Given the description of an element on the screen output the (x, y) to click on. 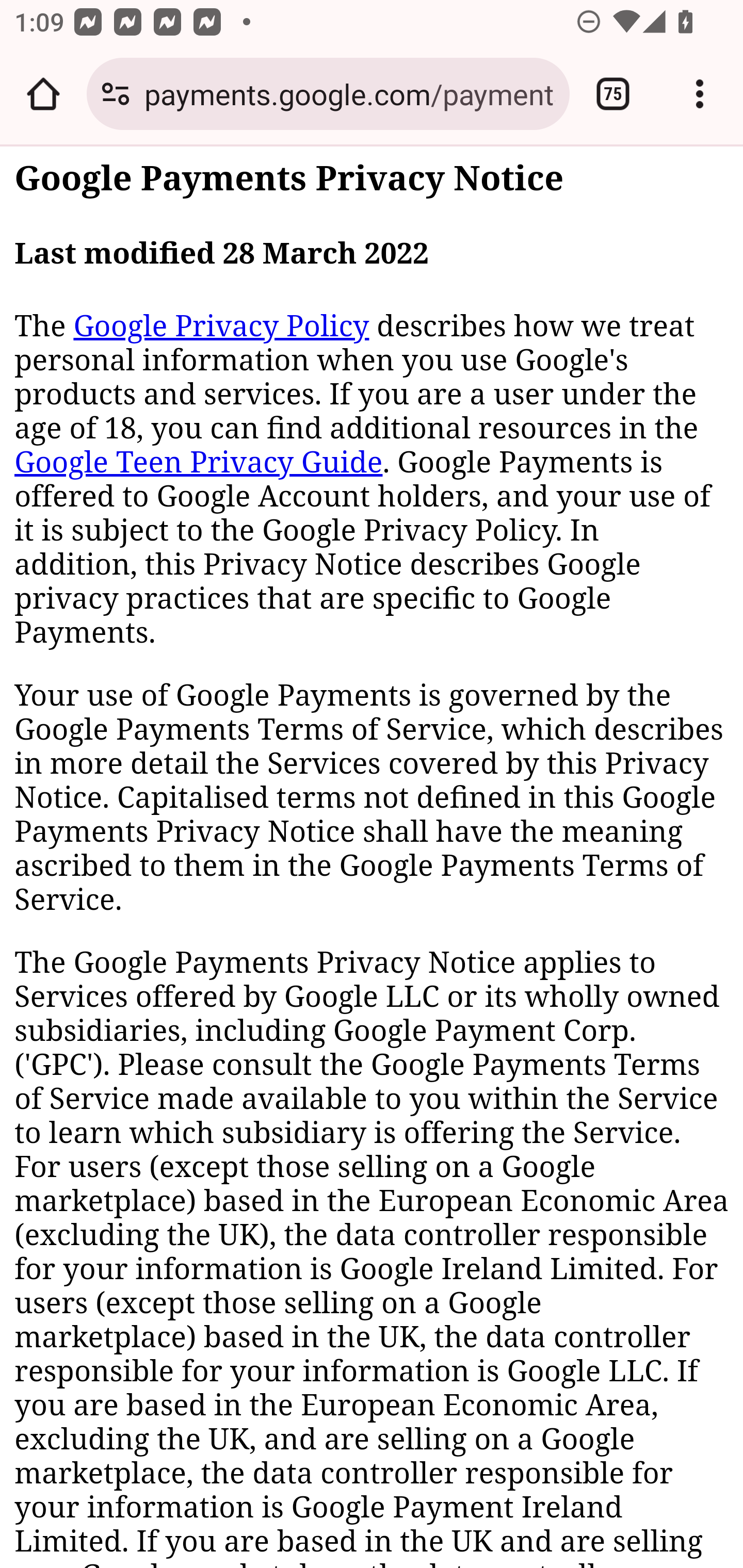
Open the home page (43, 93)
Connection is secure (115, 93)
Switch or close tabs (612, 93)
Customize and control Google Chrome (699, 93)
Google Privacy Policy (221, 326)
Google Teen Privacy Guide (199, 461)
